Given the description of an element on the screen output the (x, y) to click on. 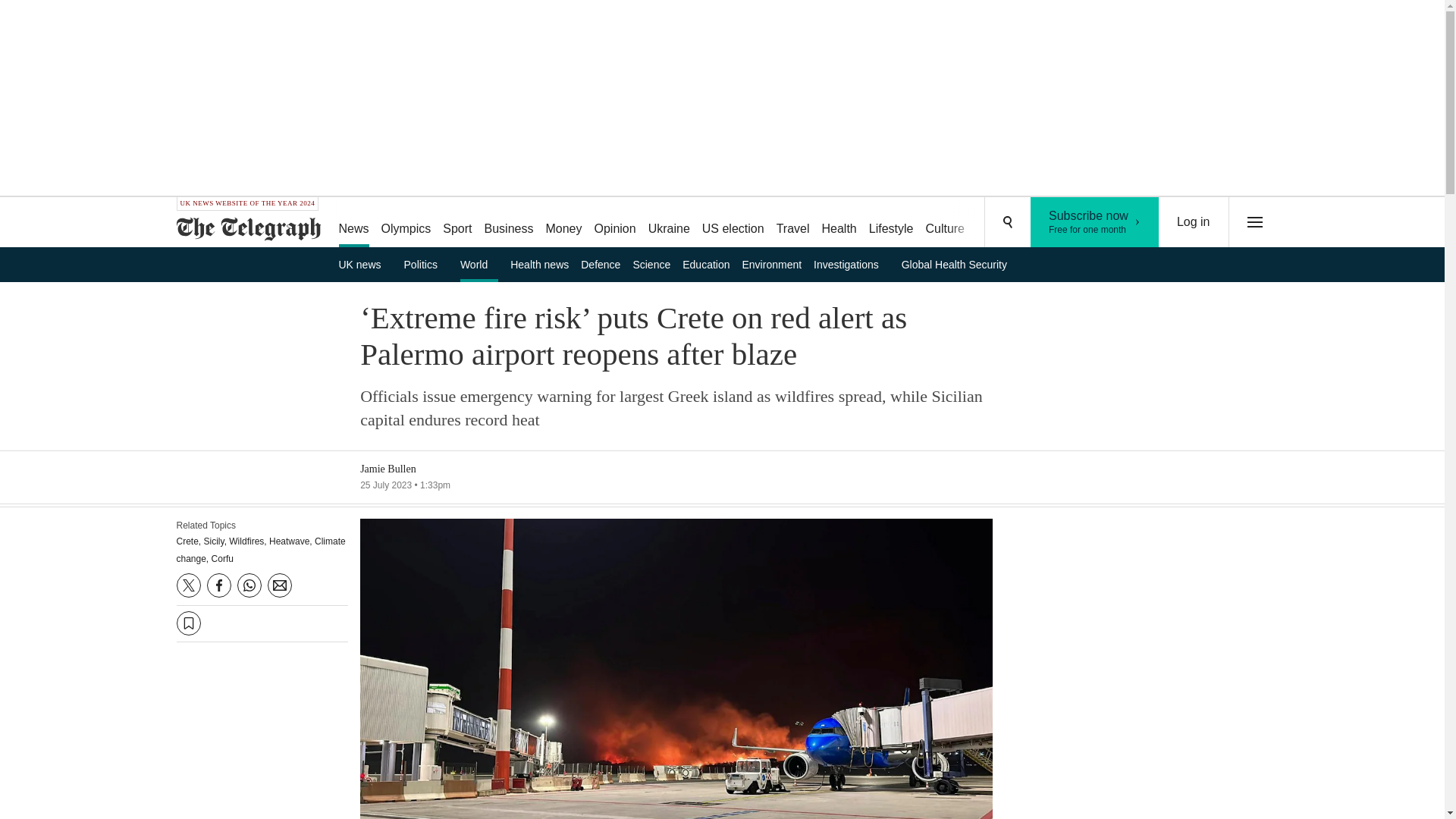
Ukraine (668, 223)
Culture (944, 223)
Health (838, 223)
UK news (364, 264)
Business (509, 223)
Puzzles (998, 223)
Money (563, 223)
Olympics (406, 223)
World (478, 264)
Podcasts (1056, 223)
Lifestyle (891, 223)
Log in (1193, 222)
US election (732, 223)
Opinion (615, 223)
